Given the description of an element on the screen output the (x, y) to click on. 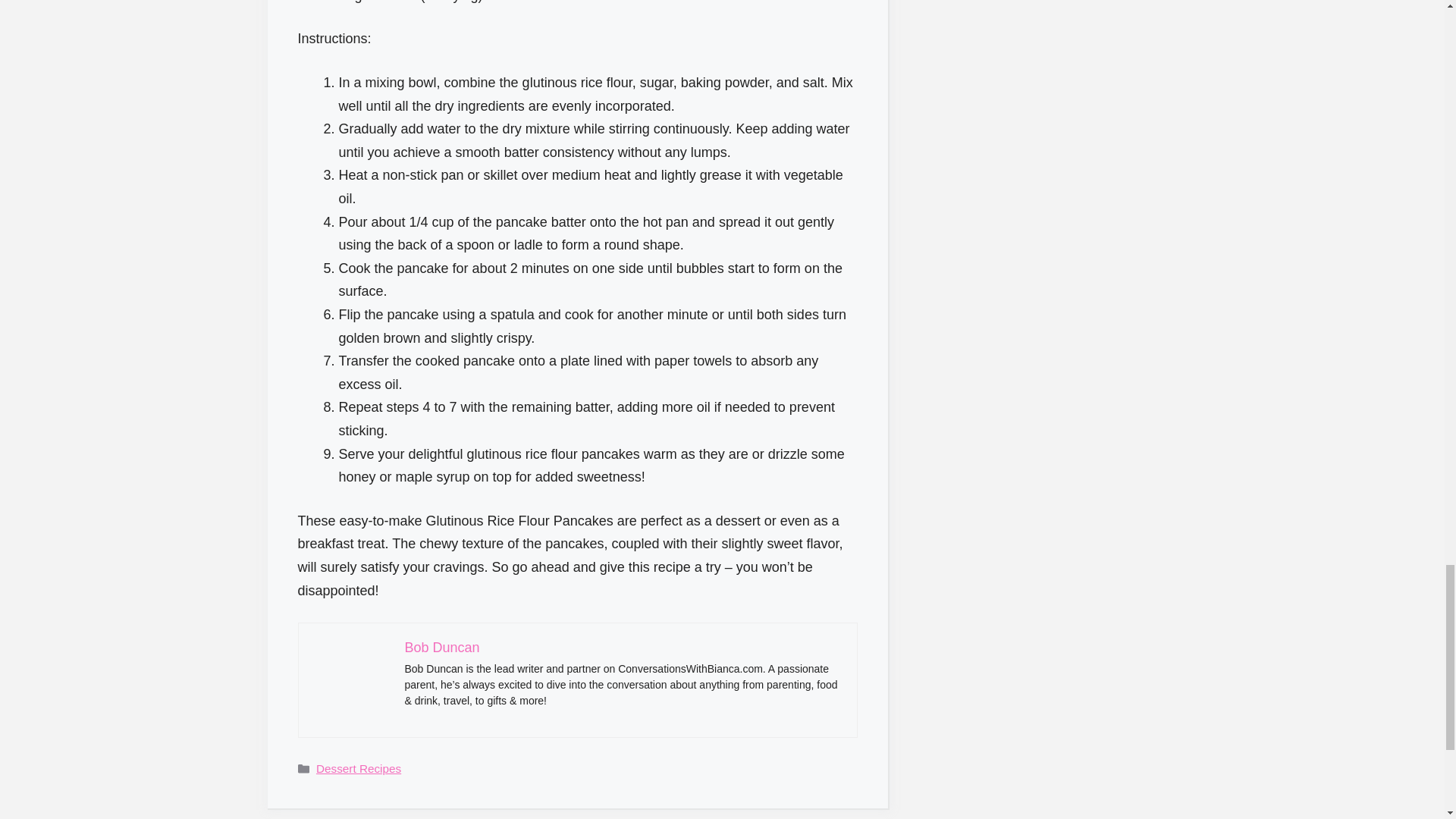
Dessert Recipes (358, 768)
Bob Duncan (442, 647)
